Given the description of an element on the screen output the (x, y) to click on. 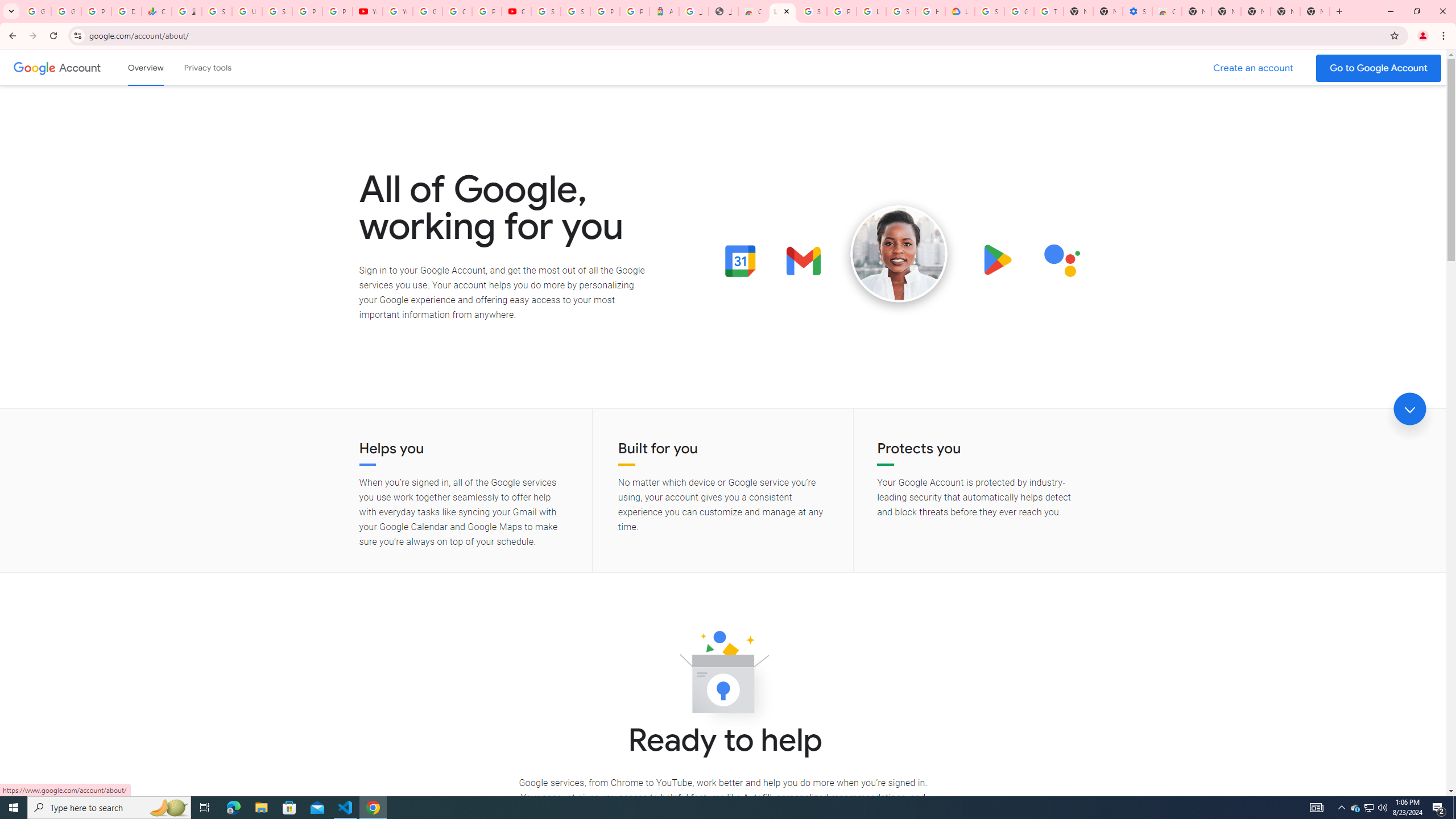
Sign in - Google Accounts (989, 11)
Create a Google Account (1253, 67)
New Tab (1338, 11)
Close (786, 11)
Google Account Help (1018, 11)
Privacy tools (207, 67)
Restore (1416, 11)
YouTube (397, 11)
Chrome Web Store - Household (753, 11)
Sign in - Google Accounts (900, 11)
Chrome Web Store - Accessibility extensions (1166, 11)
